Given the description of an element on the screen output the (x, y) to click on. 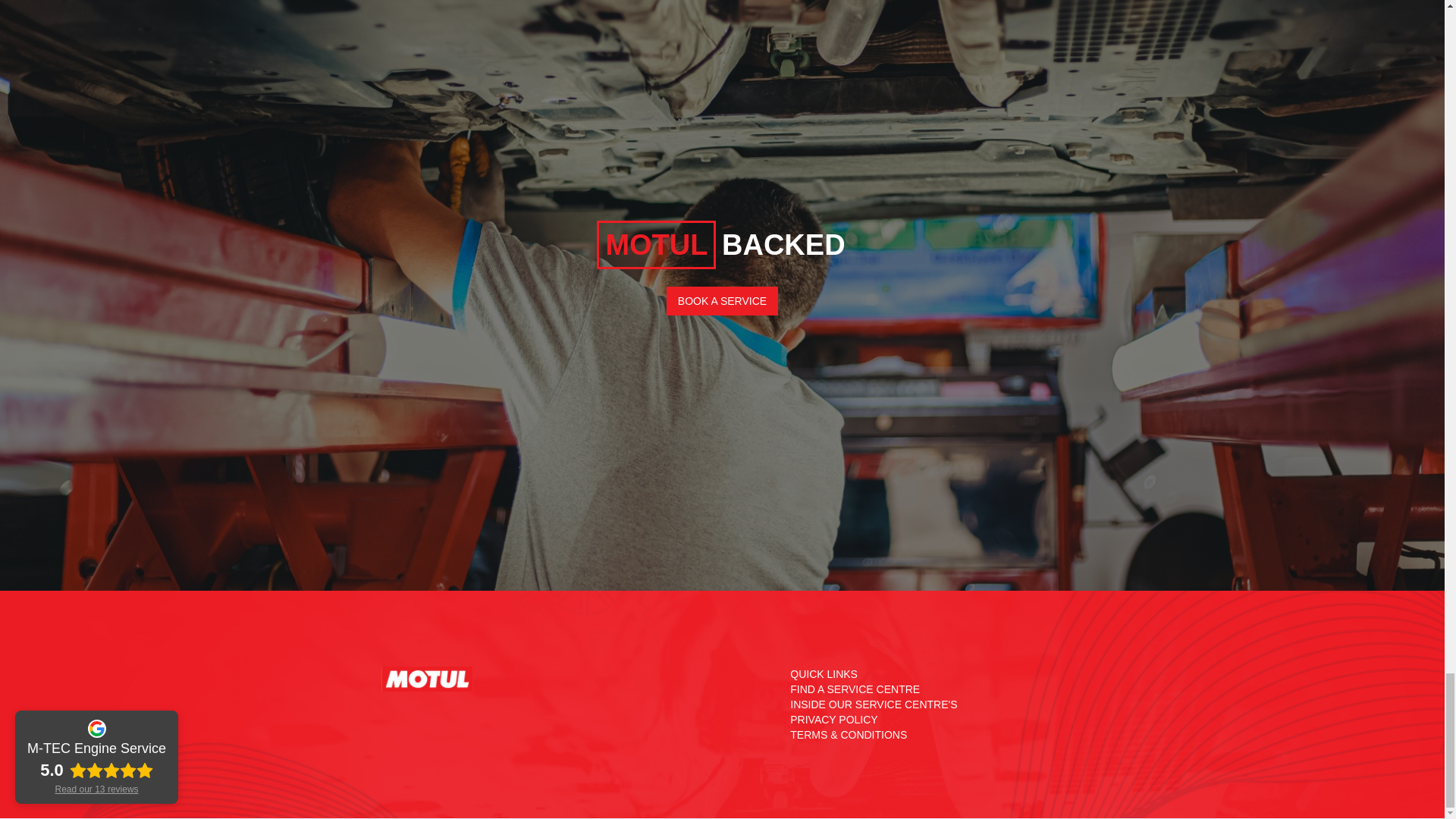
PRIVACY POLICY (833, 719)
FIND A SERVICE CENTRE (855, 688)
BOOK A SERVICE (721, 300)
INSIDE OUR SERVICE CENTRE'S (873, 703)
